Given the description of an element on the screen output the (x, y) to click on. 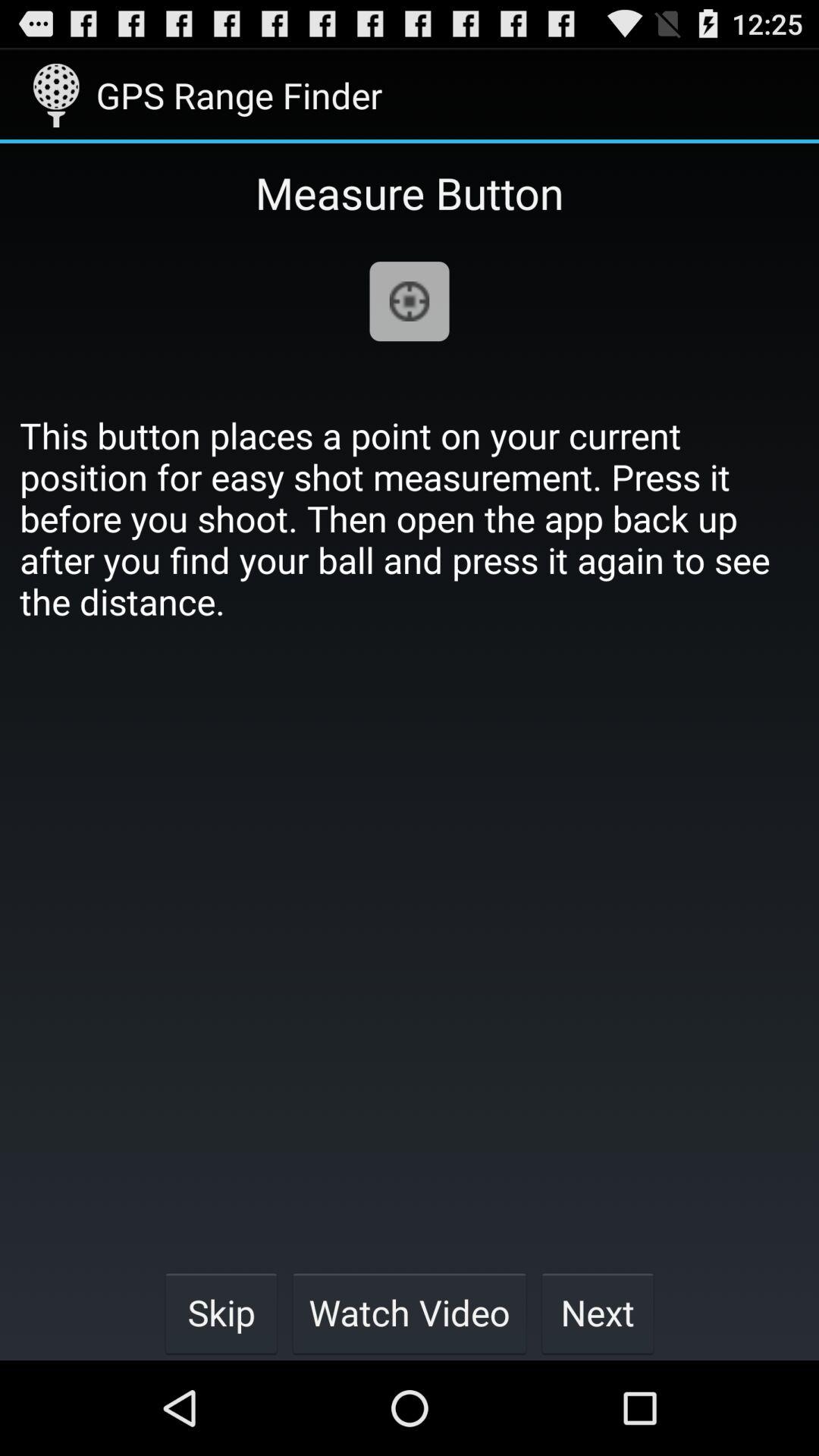
select the item to the left of next icon (409, 1312)
